Given the description of an element on the screen output the (x, y) to click on. 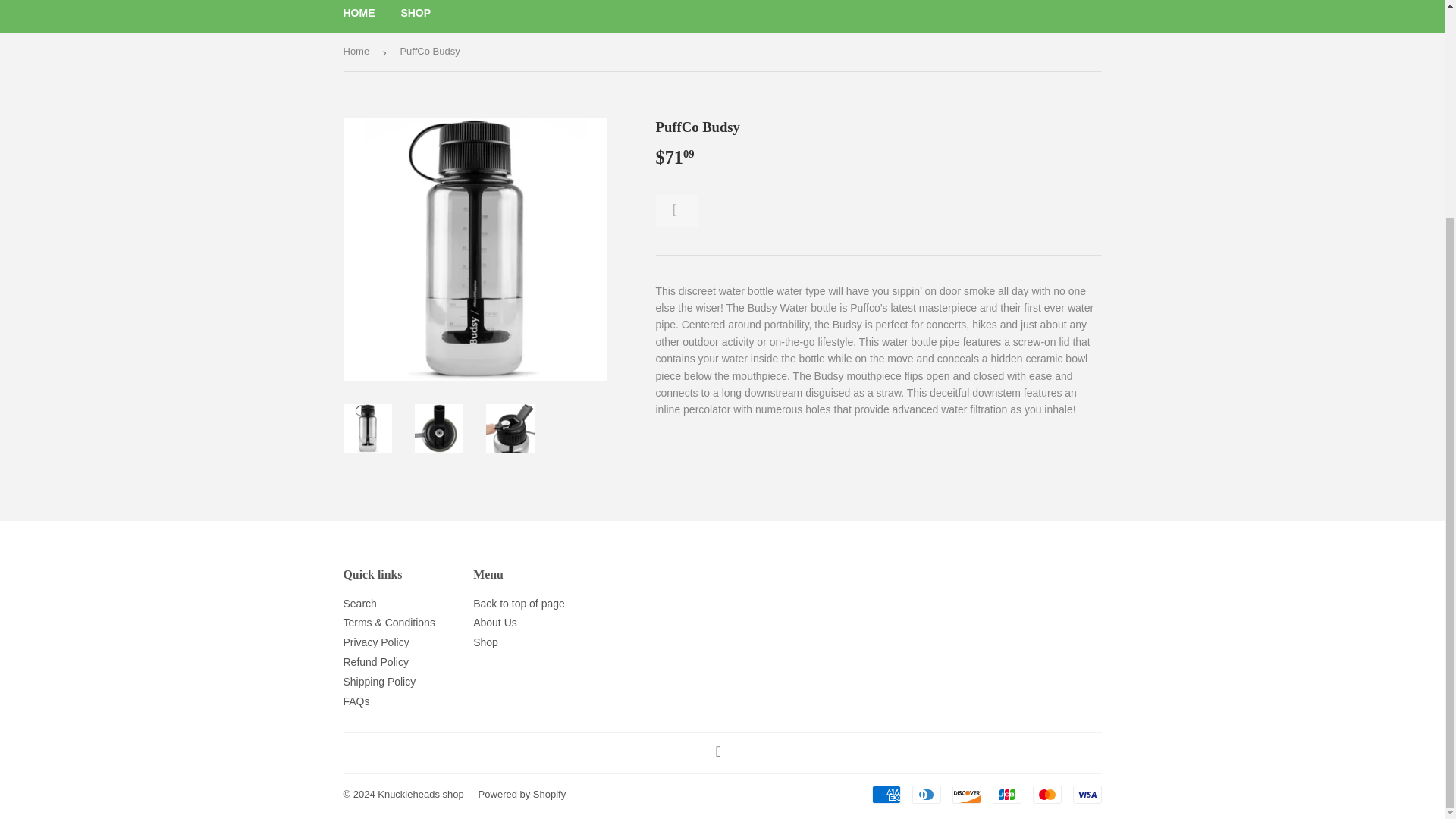
American Express (886, 794)
Visa (1085, 794)
Mastercard (1046, 794)
Privacy Policy (375, 642)
Shipping Policy (378, 681)
About Us (494, 622)
Search (358, 603)
SHOP (415, 16)
FAQs (355, 701)
HOME (359, 16)
